Given the description of an element on the screen output the (x, y) to click on. 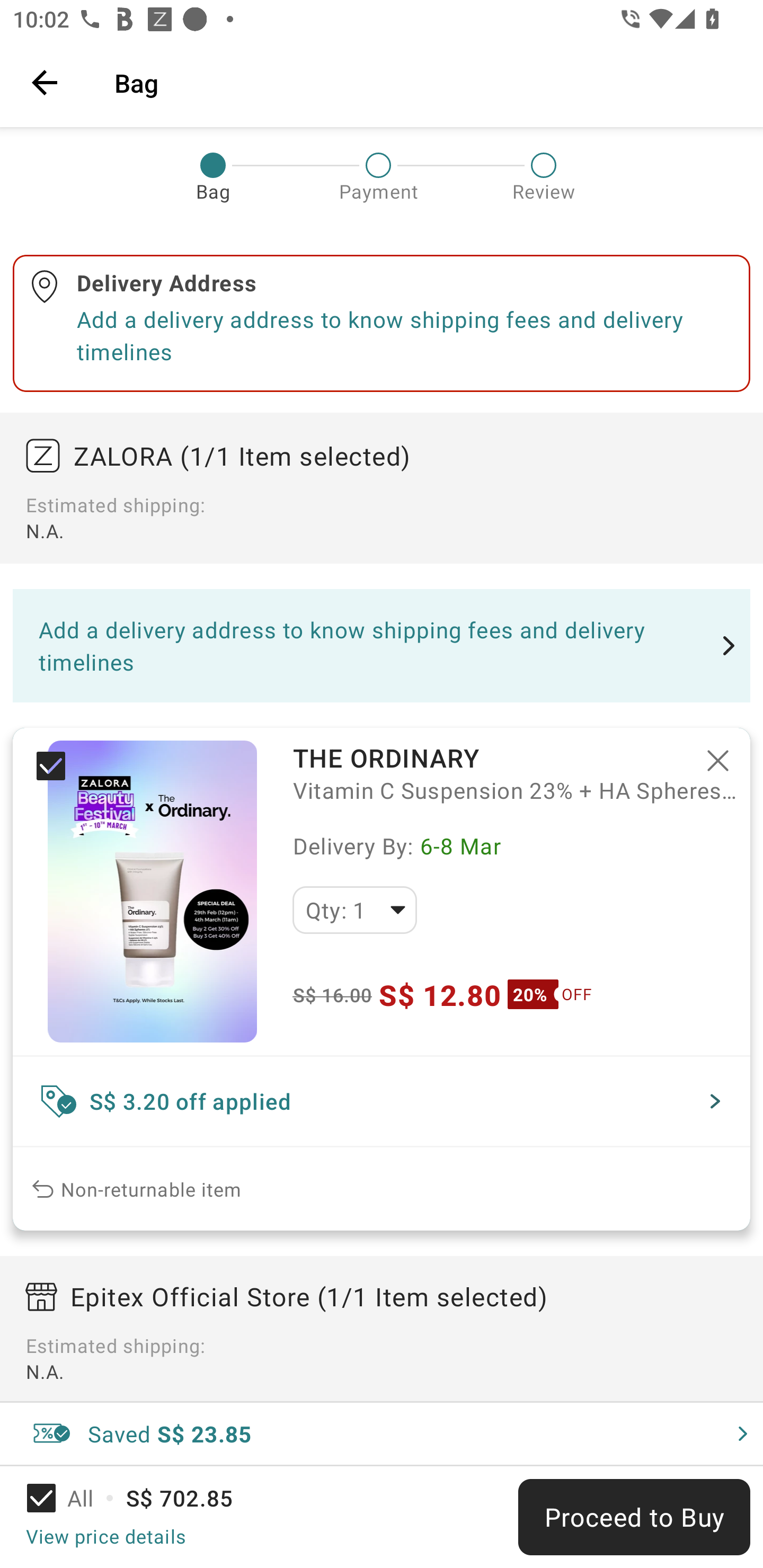
Navigate up (44, 82)
Bag (426, 82)
Qty: 1 (354, 909)
S$ 3.20 off applied (381, 1101)
Saved S$ 23.85 (381, 1433)
All (72, 1497)
Proceed to Buy (634, 1516)
View price details (105, 1535)
